Given the description of an element on the screen output the (x, y) to click on. 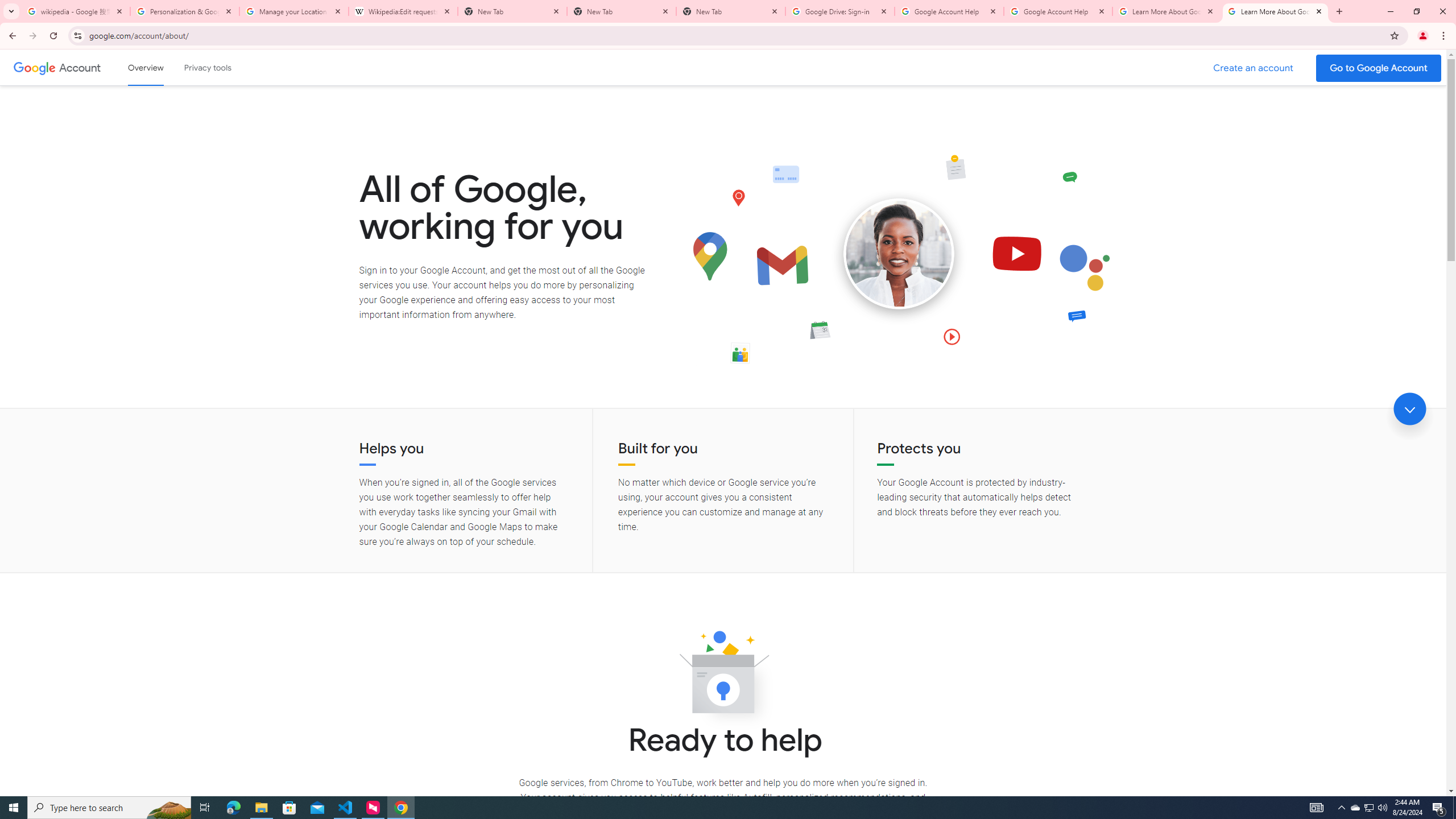
Google logo (34, 67)
Go to your Google Account (1378, 67)
New Tab (621, 11)
Google Account Help (949, 11)
Skip to Content (162, 65)
Google Account overview (145, 67)
Google Drive: Sign-in (839, 11)
Privacy tools (207, 67)
Create a Google Account (1253, 67)
